Given the description of an element on the screen output the (x, y) to click on. 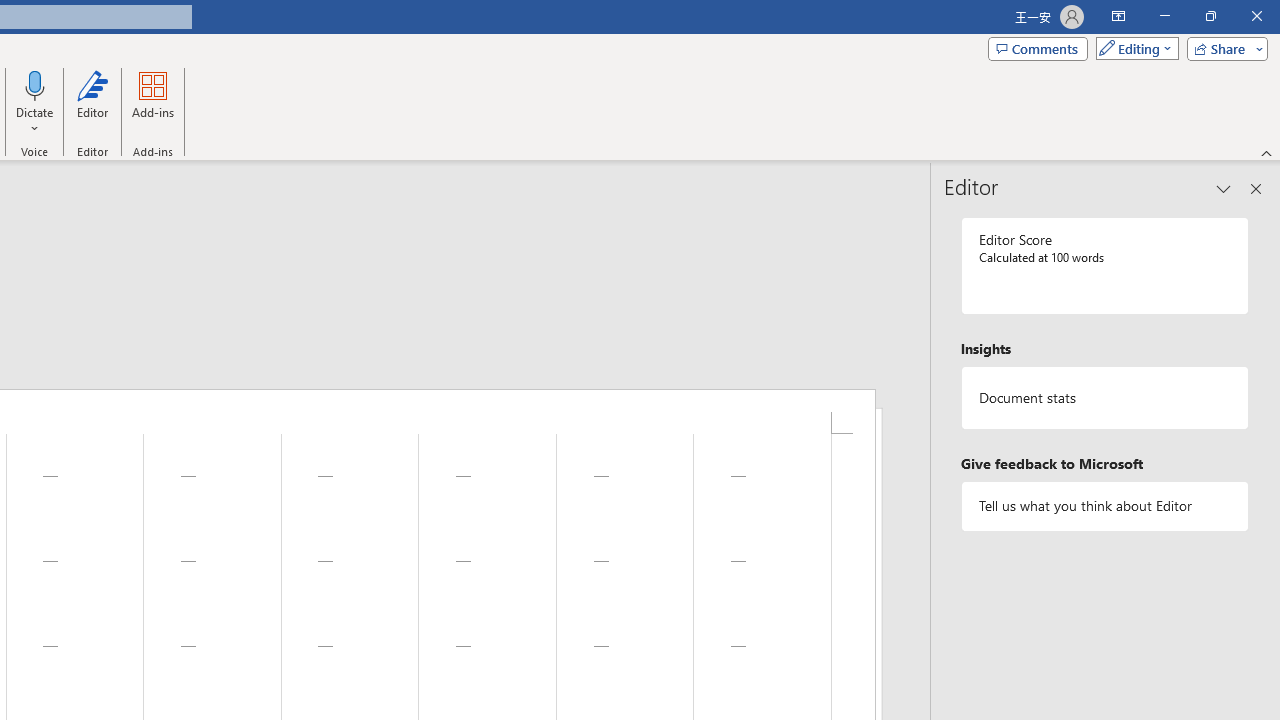
Document statistics (1105, 398)
